Given the description of an element on the screen output the (x, y) to click on. 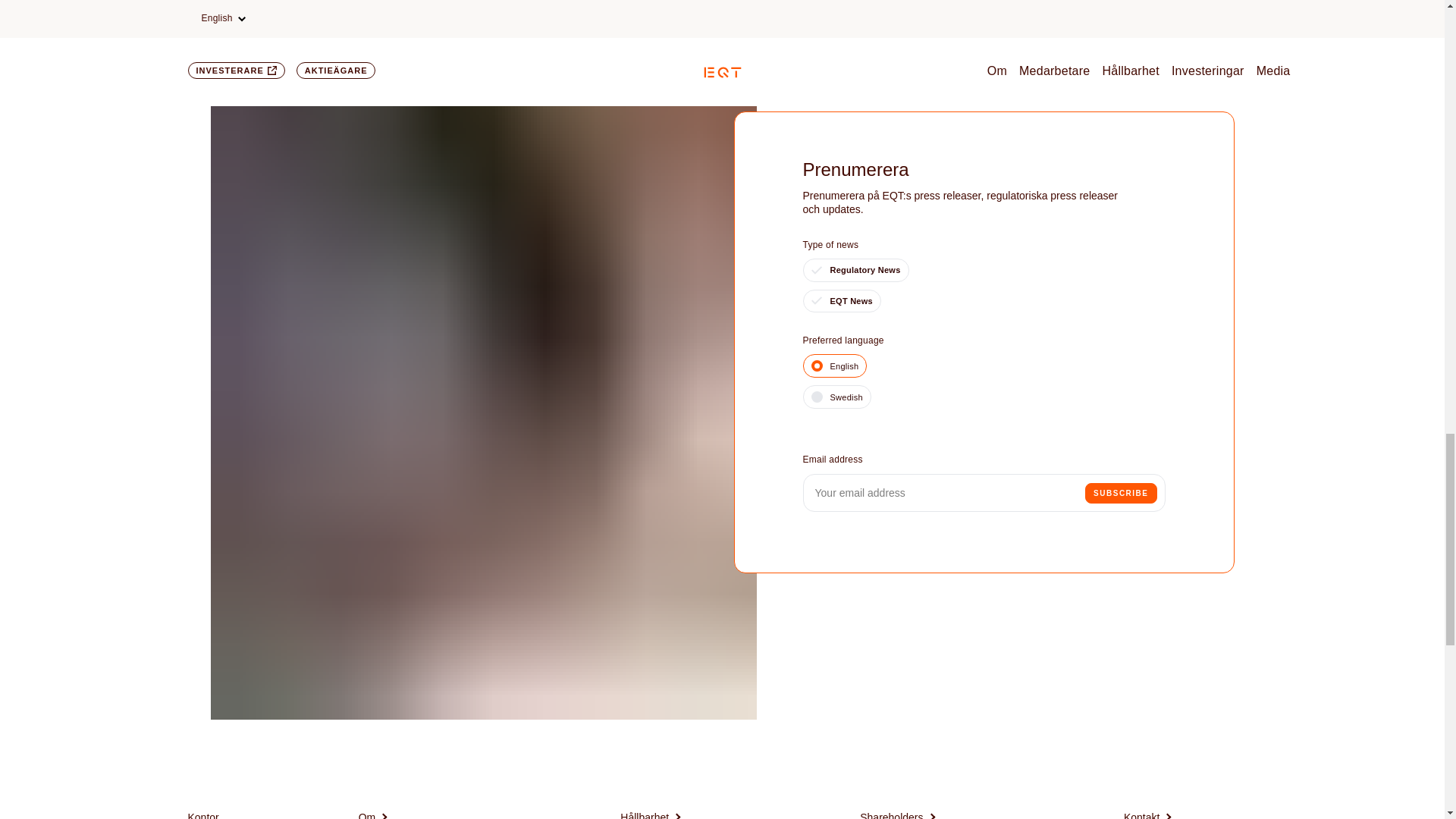
SUBSCRIBE (1120, 493)
Swedish (836, 396)
English (834, 365)
